Given the description of an element on the screen output the (x, y) to click on. 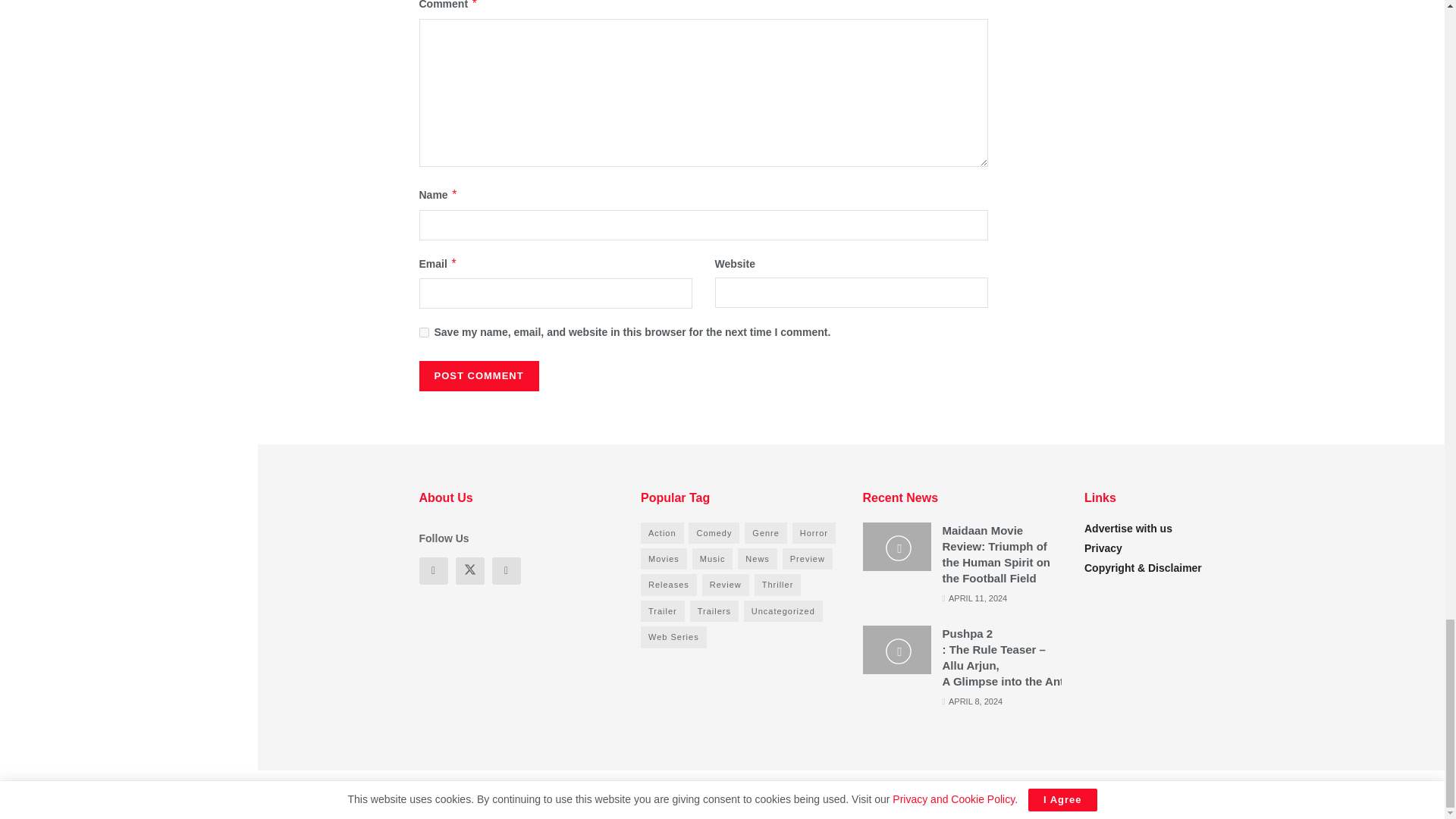
Filmifanclub (522, 793)
Post Comment (478, 376)
yes (423, 332)
